Given the description of an element on the screen output the (x, y) to click on. 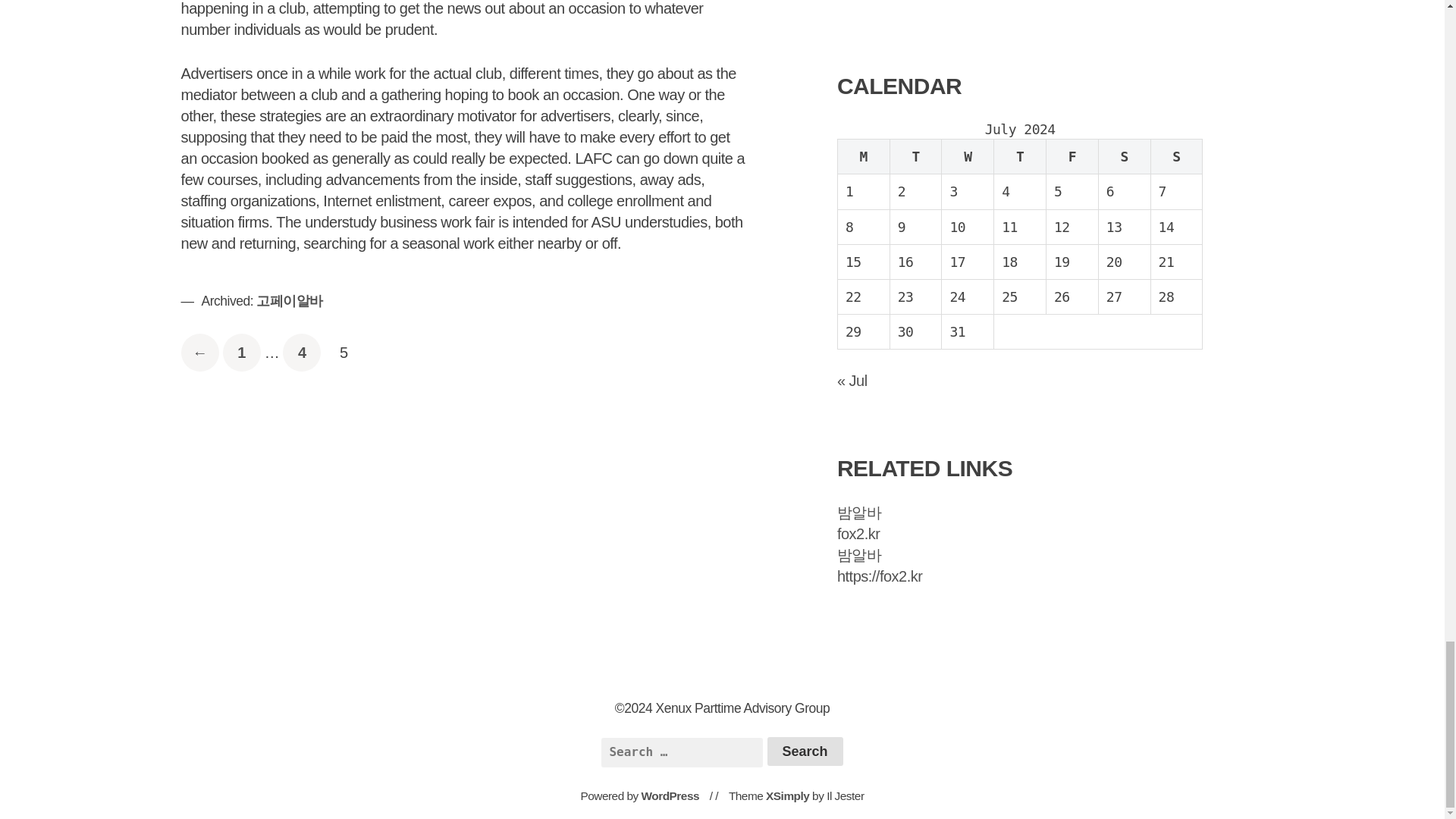
Tuesday (915, 156)
Sunday (1176, 156)
Thursday (1020, 156)
Wednesday (968, 156)
Saturday (1123, 156)
Friday (1072, 156)
Search (241, 352)
Search (805, 751)
Monday (805, 751)
